Given the description of an element on the screen output the (x, y) to click on. 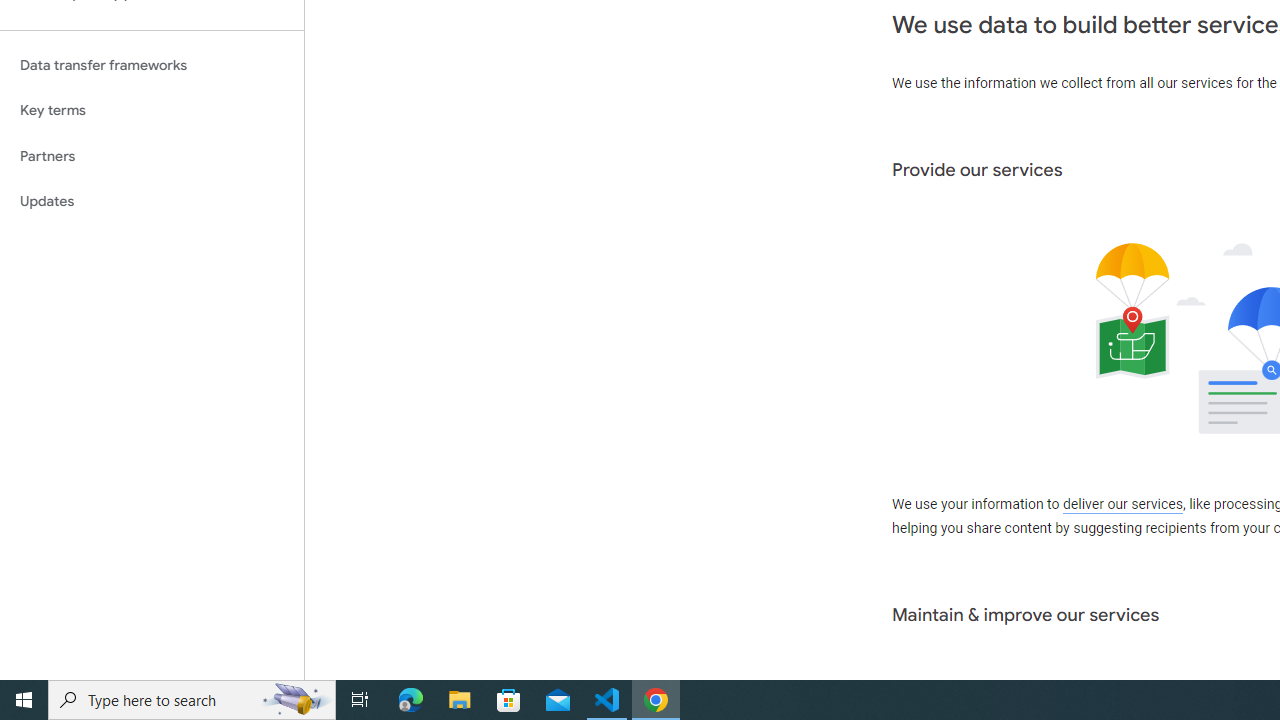
Partners (152, 156)
Data transfer frameworks (152, 65)
Updates (152, 201)
deliver our services (1122, 505)
Key terms (152, 110)
